Given the description of an element on the screen output the (x, y) to click on. 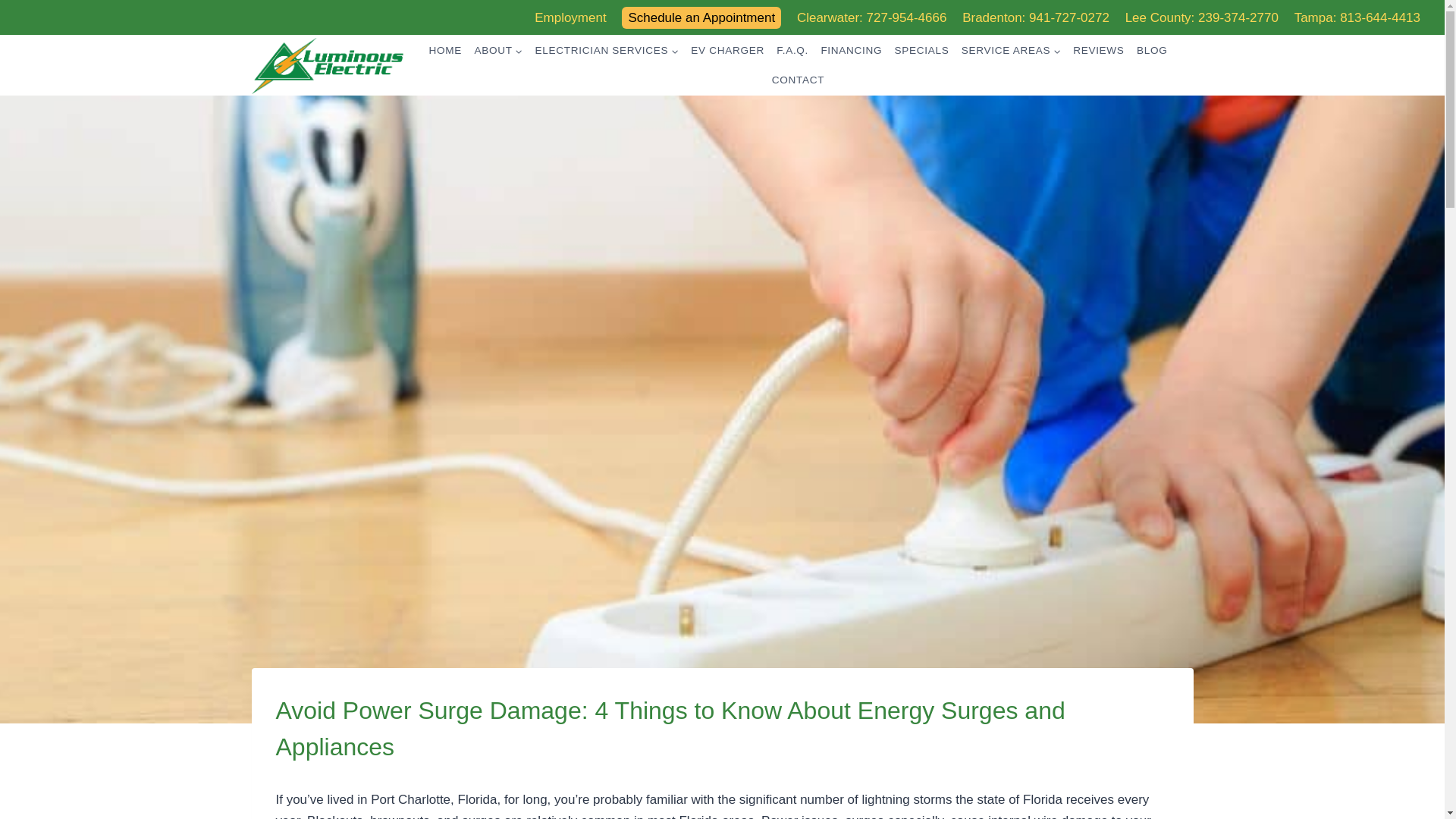
SPECIALS (921, 50)
F.A.Q. (791, 50)
Tampa: 813-644-4413 (1357, 17)
Schedule an Appointment (700, 17)
Lee County: 239-374-2770 (1201, 17)
ELECTRICIAN SERVICES (606, 50)
Employment (569, 17)
EV CHARGER (727, 50)
HOME (444, 50)
SERVICE AREAS (1011, 50)
Clearwater: 727-954-4666 (871, 17)
Bradenton: 941-727-0272 (1035, 17)
FINANCING (850, 50)
ABOUT (497, 50)
